Given the description of an element on the screen output the (x, y) to click on. 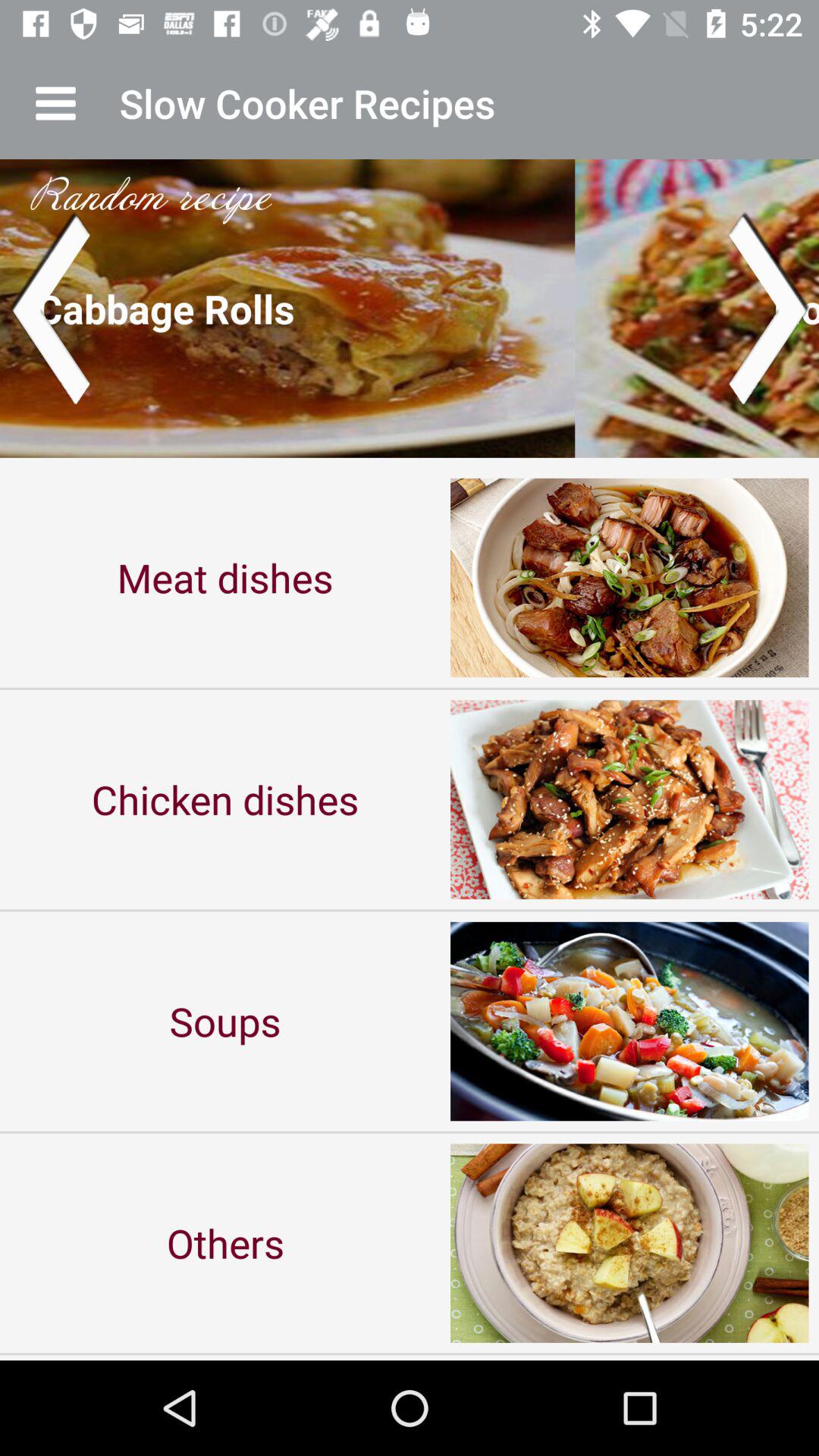
go back (49, 308)
